Given the description of an element on the screen output the (x, y) to click on. 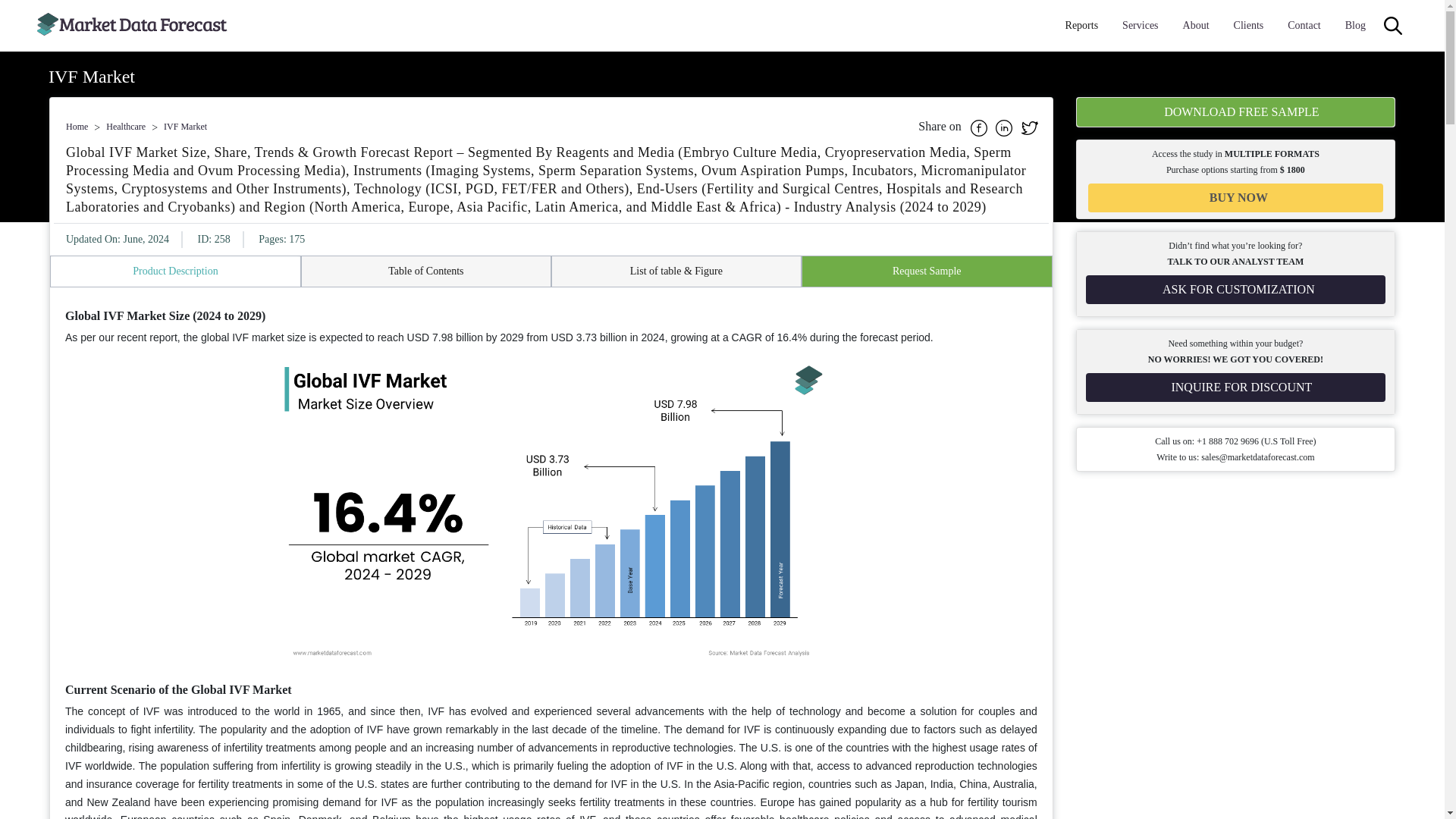
Services (1139, 25)
Request Sample (926, 271)
Reports (1082, 25)
Linkedin (1004, 126)
search-icon (1393, 25)
Home (76, 126)
Product Description (174, 271)
Blog (1355, 25)
IVF Market (184, 126)
Healthcare (125, 126)
Market Data Forecast logo (132, 25)
Table of Contents (425, 271)
Contact (1303, 25)
Clients (1248, 25)
About (1195, 25)
